Given the description of an element on the screen output the (x, y) to click on. 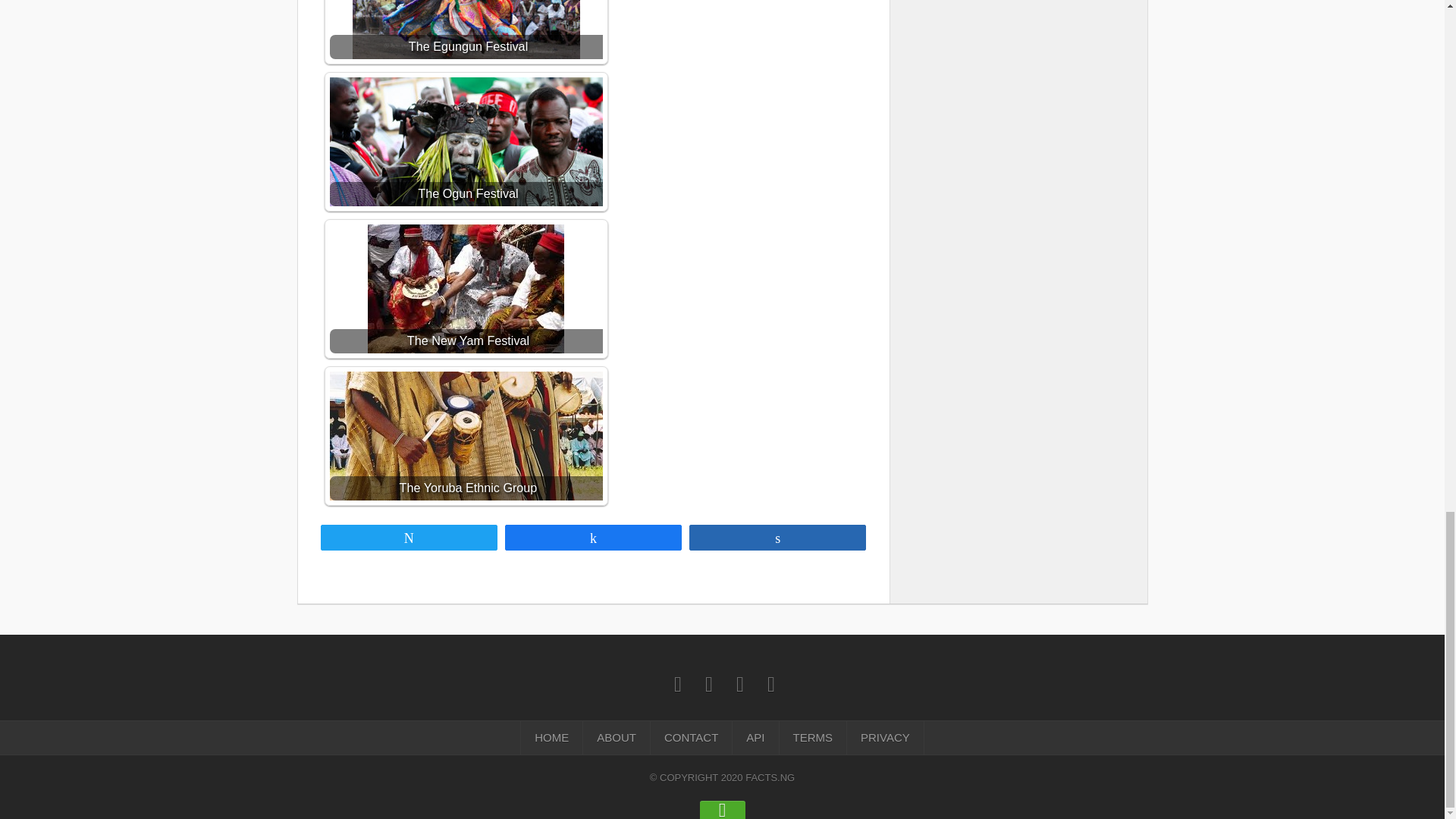
The Egungun Festival (465, 29)
The Egungun Festival (465, 29)
The Ogun Festival (465, 141)
The New Yam Festival (465, 288)
The New Yam Festival (466, 288)
The Yoruba Ethnic Group (465, 435)
The Yoruba Ethnic Group (465, 435)
The Ogun Festival (465, 141)
